Given the description of an element on the screen output the (x, y) to click on. 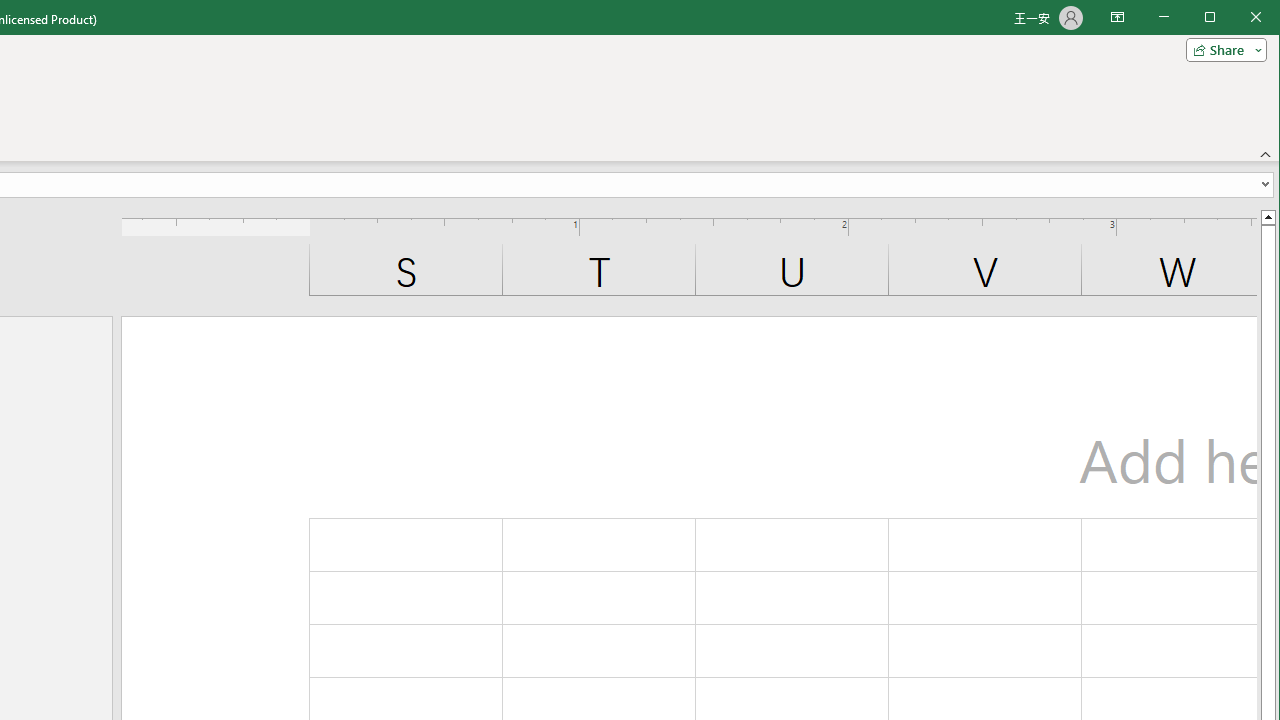
Ribbon Display Options (1117, 17)
Maximize (1238, 18)
Line up (1268, 216)
Share (1222, 49)
Close (1261, 18)
Minimize (1216, 18)
Collapse the Ribbon (1266, 154)
